Given the description of an element on the screen output the (x, y) to click on. 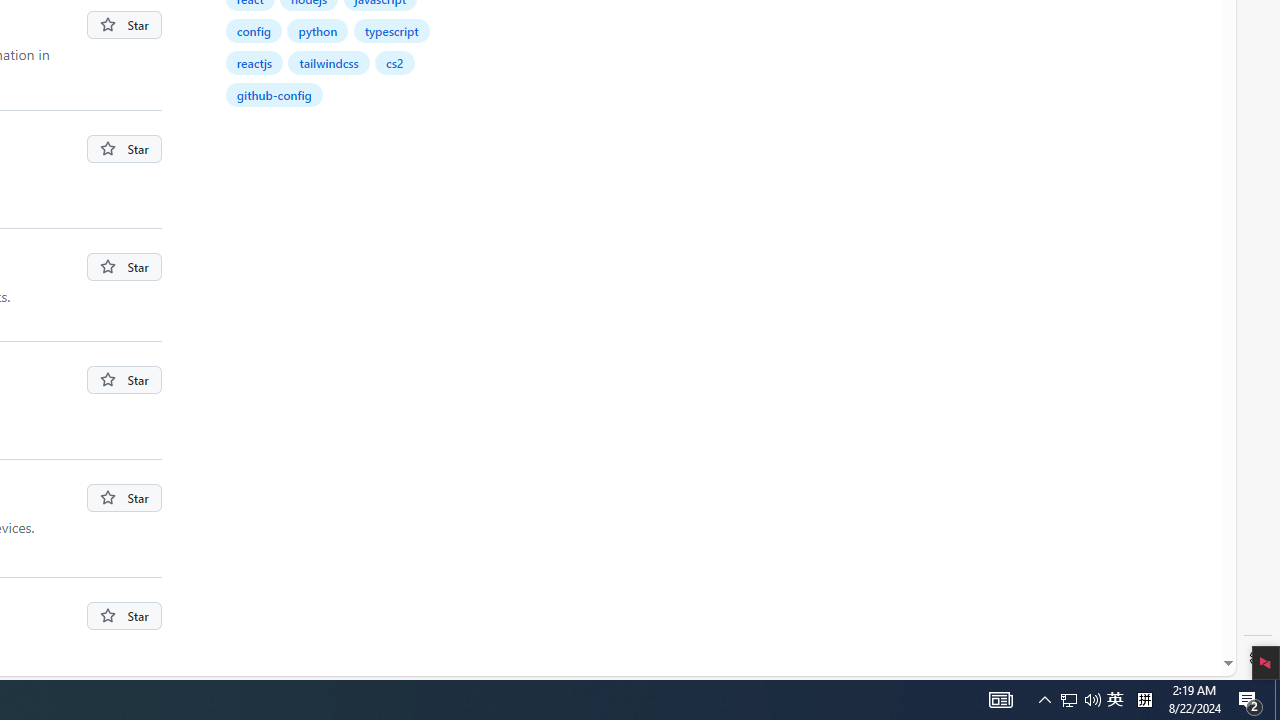
github-config (273, 94)
config (254, 30)
reactjs (255, 62)
reactjs (254, 62)
tailwindcss (328, 62)
tailwindcss (330, 62)
config (253, 30)
You must be signed in to star a repository (124, 615)
github-config (275, 94)
cs2 (394, 62)
typescript (391, 30)
python (317, 30)
python (317, 30)
typescript (392, 30)
